Given the description of an element on the screen output the (x, y) to click on. 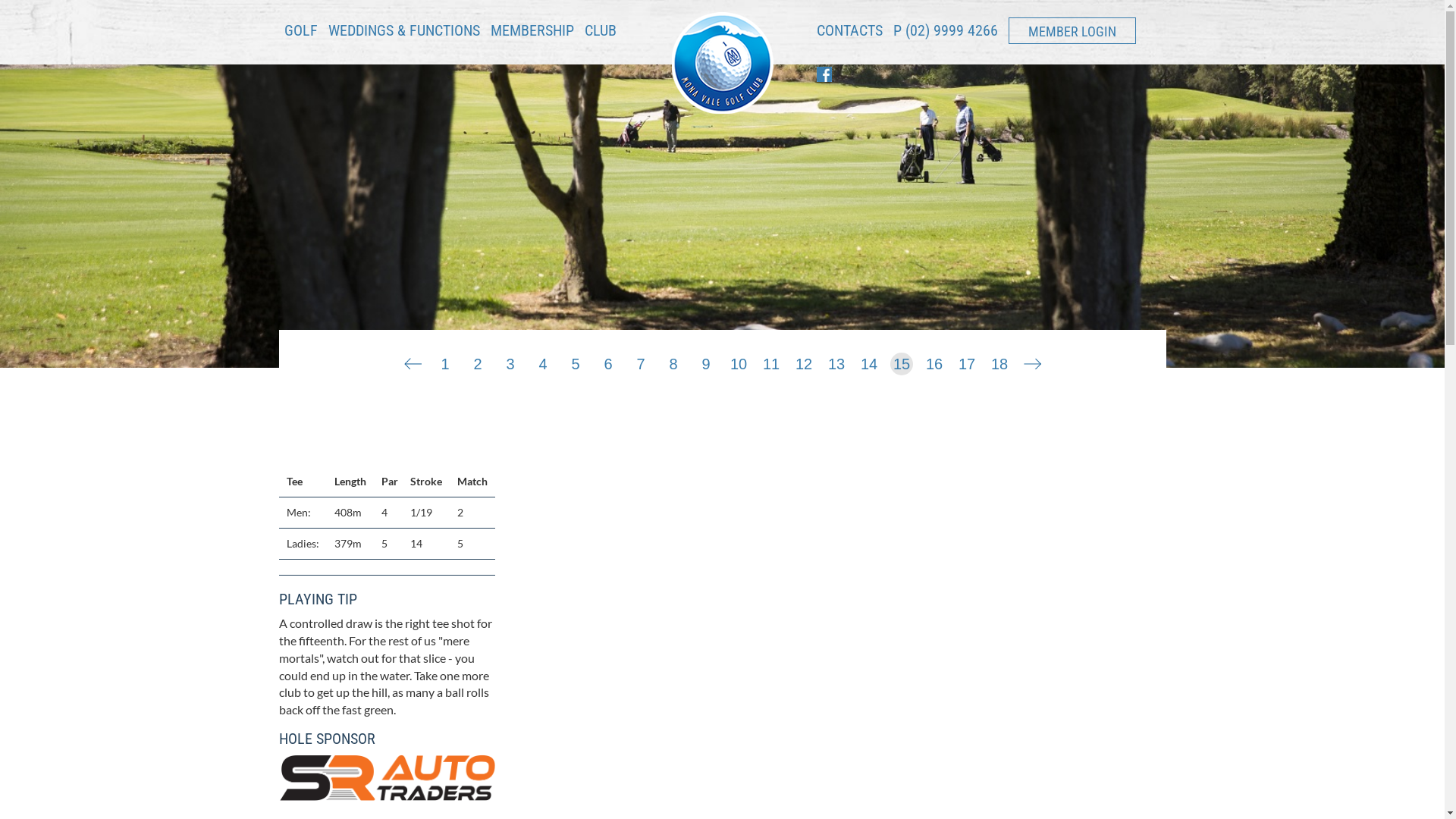
18 Element type: text (999, 360)
6 Element type: text (607, 360)
WEDDINGS & FUNCTIONS Element type: text (403, 35)
15 Element type: text (901, 360)
1 Element type: text (444, 360)
17 Element type: text (966, 360)
CLUB Element type: text (599, 35)
4 Element type: text (542, 360)
12 Element type: text (803, 360)
MEMBER LOGIN Element type: text (1071, 30)
5 Element type: text (575, 360)
P (02) 9999 4266 Element type: text (945, 30)
Hole 14 Element type: text (412, 360)
GOLF Element type: text (299, 35)
MVGC 15th Hole Element type: hover (824, 594)
2 Element type: text (477, 360)
7 Element type: text (640, 360)
13 Element type: text (836, 360)
9 Element type: text (705, 360)
14 Element type: text (868, 360)
MEMBERSHIP Element type: text (531, 30)
CONTACTS Element type: text (848, 35)
11 Element type: text (770, 360)
Hole 16 Element type: text (1031, 360)
8 Element type: text (673, 360)
3 Element type: text (509, 360)
10 Element type: text (738, 360)
16 Element type: text (933, 360)
